Given the description of an element on the screen output the (x, y) to click on. 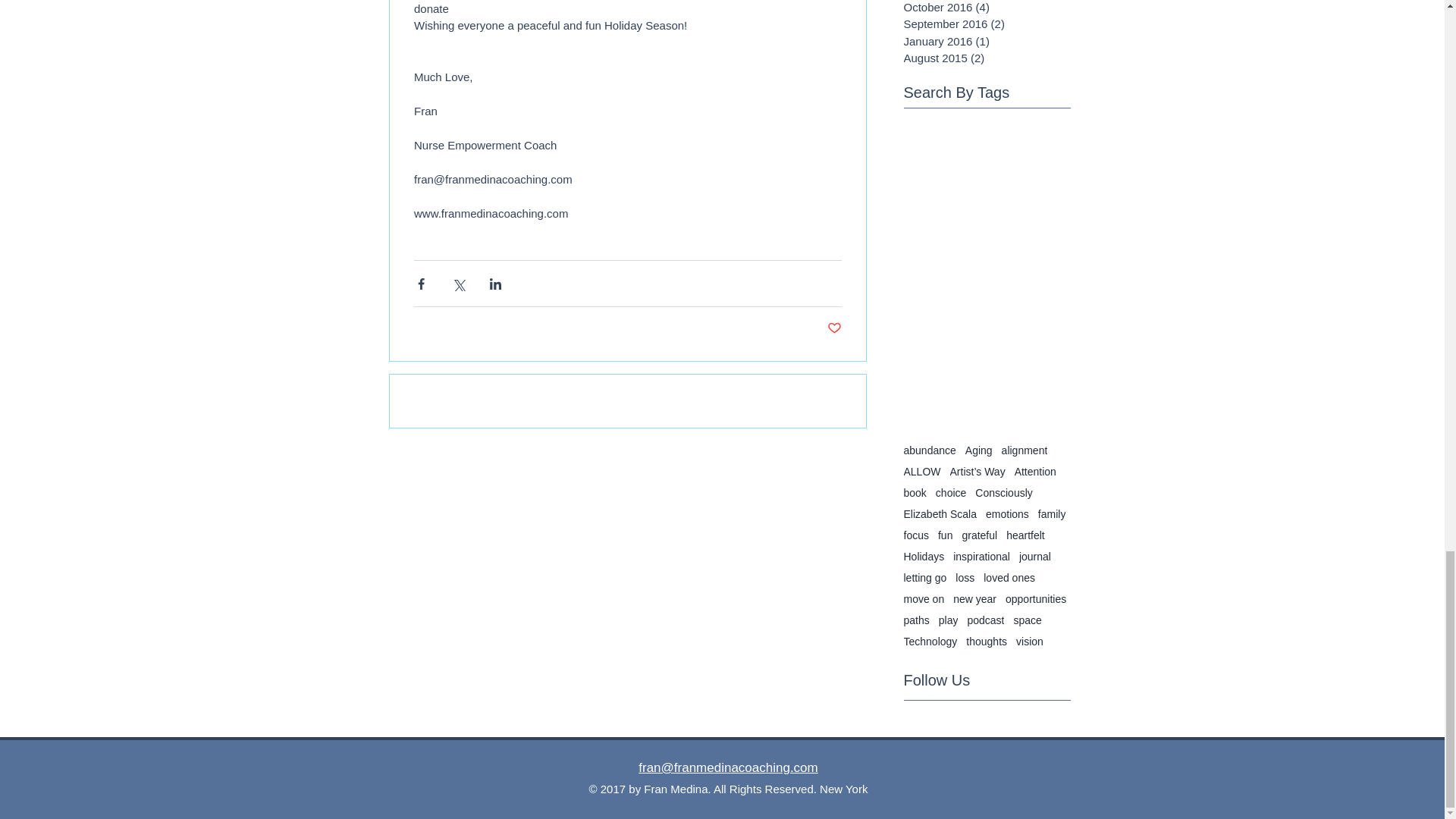
Post not marked as liked (834, 328)
